Given the description of an element on the screen output the (x, y) to click on. 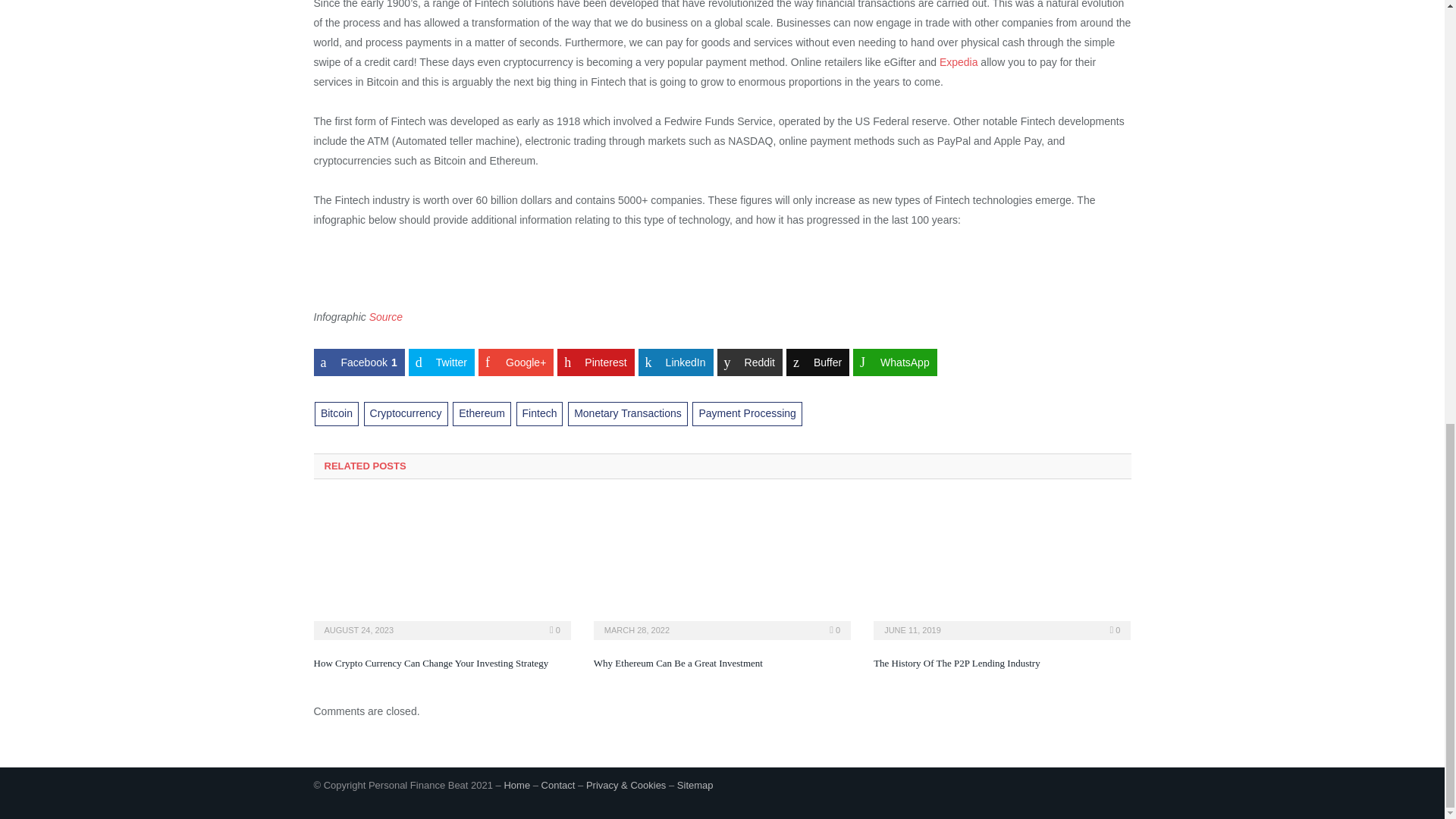
Source (386, 316)
Facebook1 (359, 361)
Expedia (958, 61)
